Given the description of an element on the screen output the (x, y) to click on. 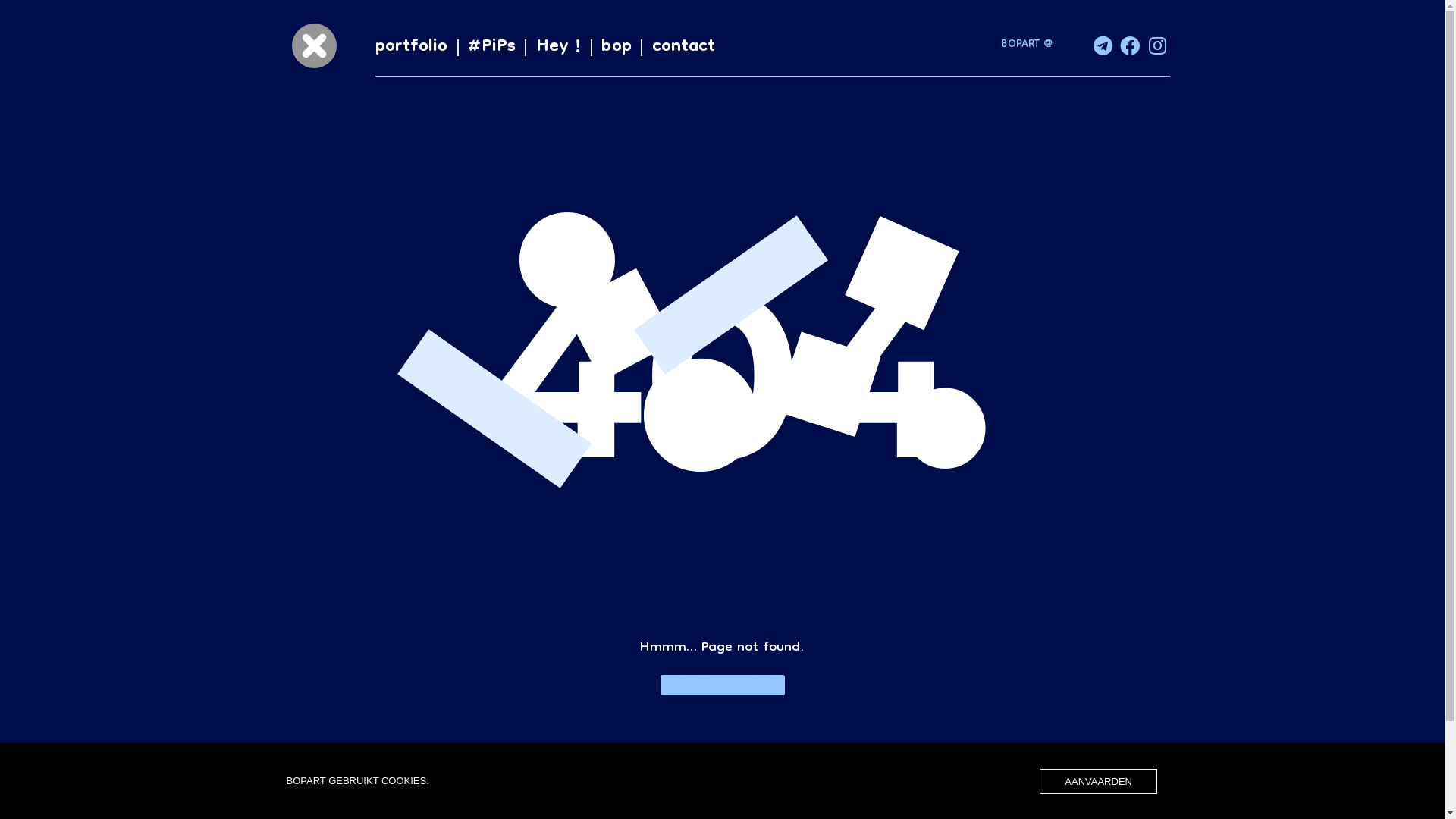
contact Element type: text (683, 46)
back to my portfolio Element type: text (721, 684)
Hey ! Element type: text (558, 46)
LOGO BOPART Element type: hover (313, 45)
AANVAARDEN Element type: text (1098, 780)
bop Element type: text (616, 46)
portfolio Element type: text (411, 46)
#PiPs Element type: text (491, 46)
